Given the description of an element on the screen output the (x, y) to click on. 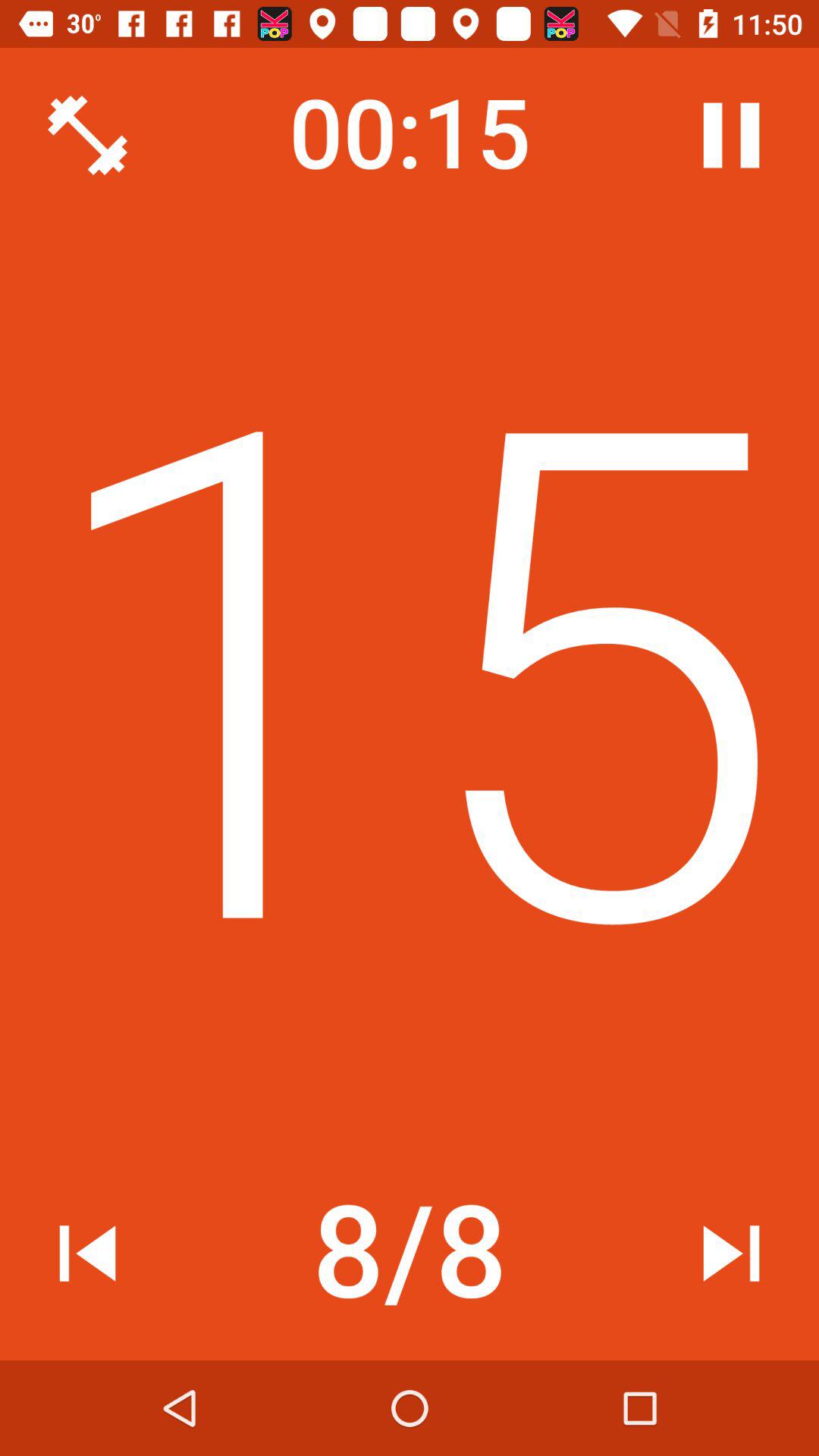
flip to the 8/8 icon (409, 1253)
